Given the description of an element on the screen output the (x, y) to click on. 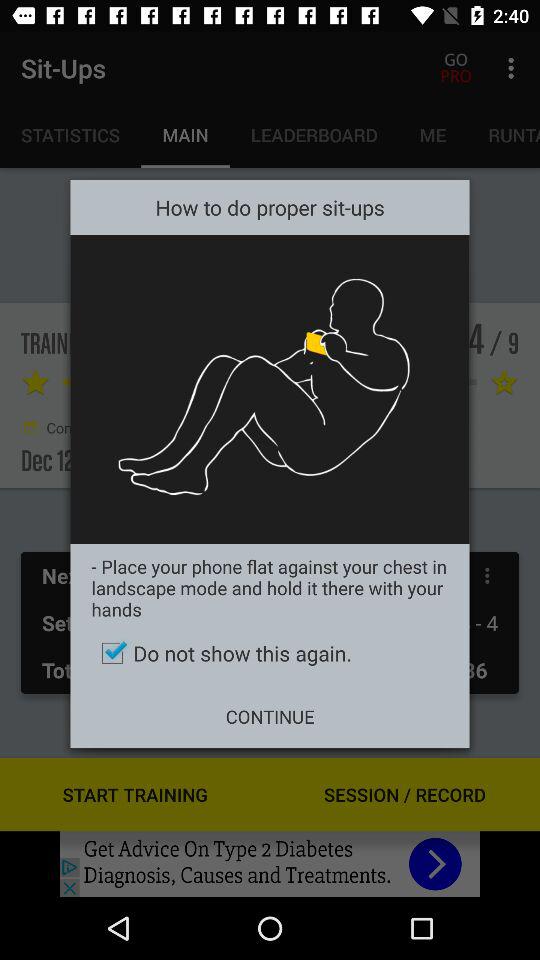
click do not show item (269, 653)
